Given the description of an element on the screen output the (x, y) to click on. 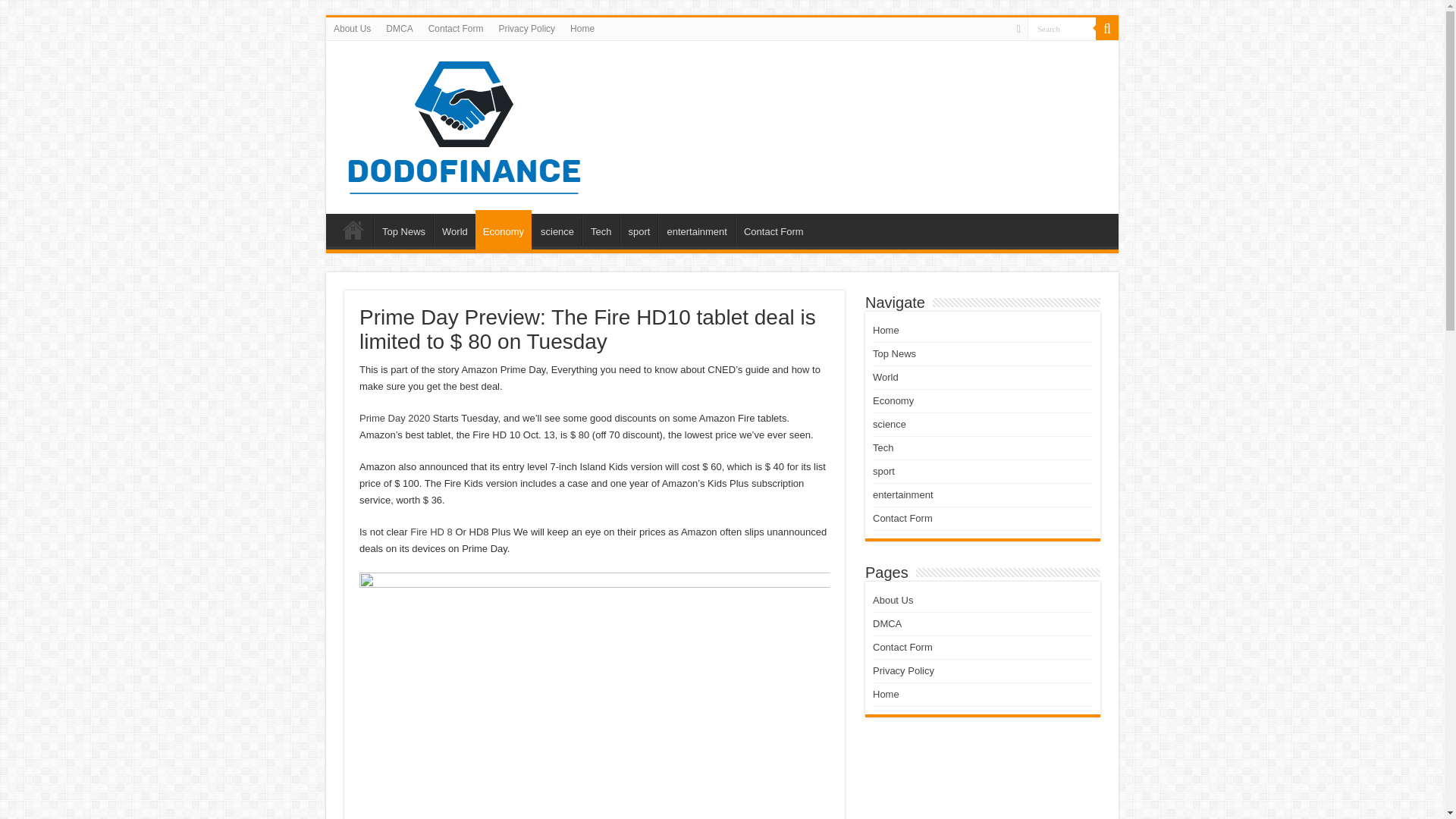
sport (639, 229)
Prime Day 2020 (394, 418)
Economy (503, 229)
Search (1061, 28)
DMCA (399, 28)
science (556, 229)
World (454, 229)
Search (1061, 28)
About Us (352, 28)
Rss (1018, 29)
Search (1107, 28)
Contact Form (772, 229)
Contact Form (456, 28)
Home (582, 28)
Fire HD 8 (431, 531)
